Given the description of an element on the screen output the (x, y) to click on. 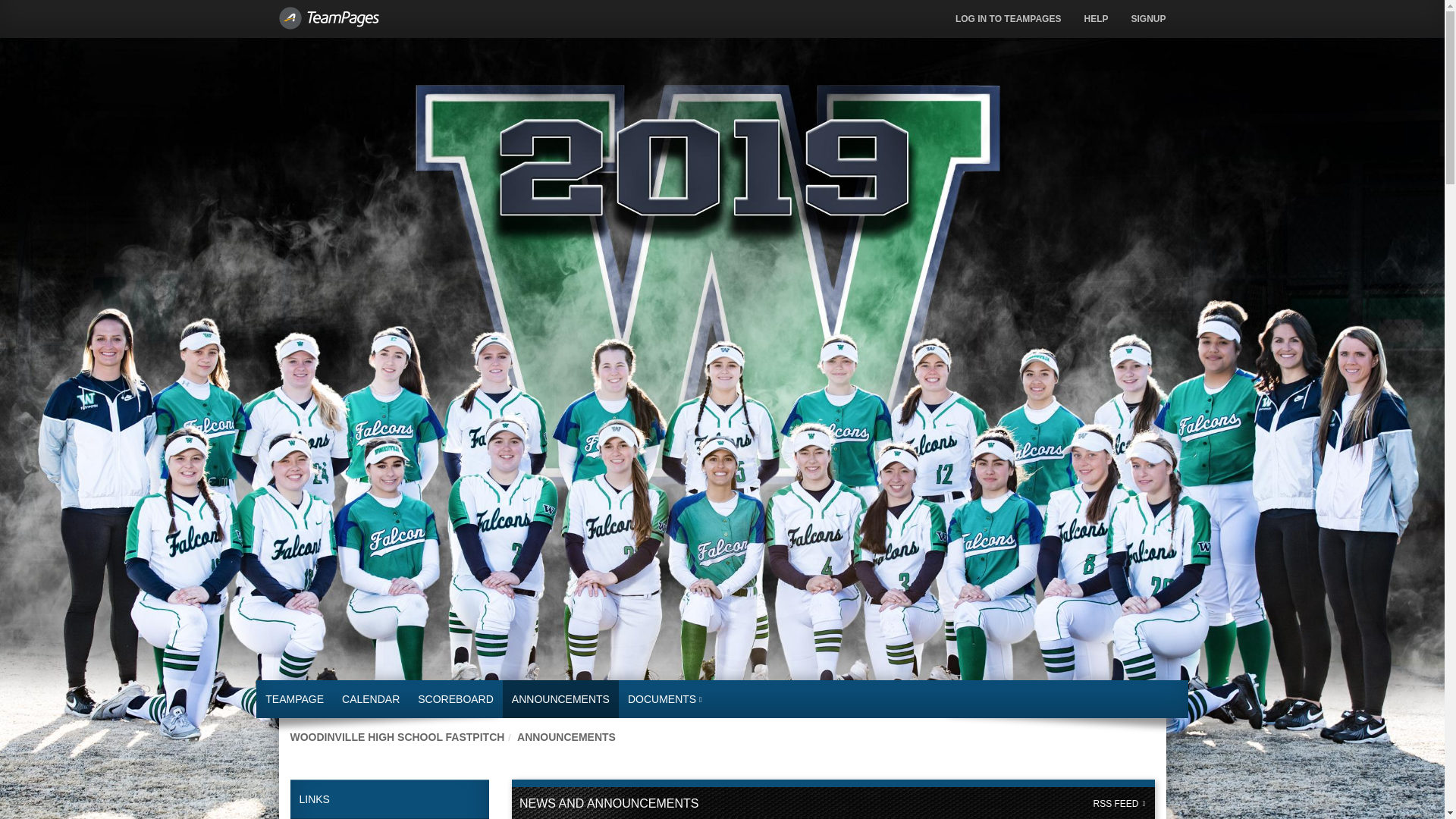
SCOREBOARD (455, 699)
CALENDAR (371, 699)
DOCUMENTS (664, 699)
Team, League, and Club Websites - TeamPages.com (387, 10)
ANNOUNCEMENTS (560, 699)
LINKS (389, 799)
SIGNUP (1147, 18)
LOG IN TO TEAMPAGES (1008, 18)
ANNOUNCEMENTS (565, 736)
TEAMPAGE (294, 699)
WOODINVILLE HIGH SCHOOL FASTPITCH (396, 736)
HELP (1095, 18)
